Given the description of an element on the screen output the (x, y) to click on. 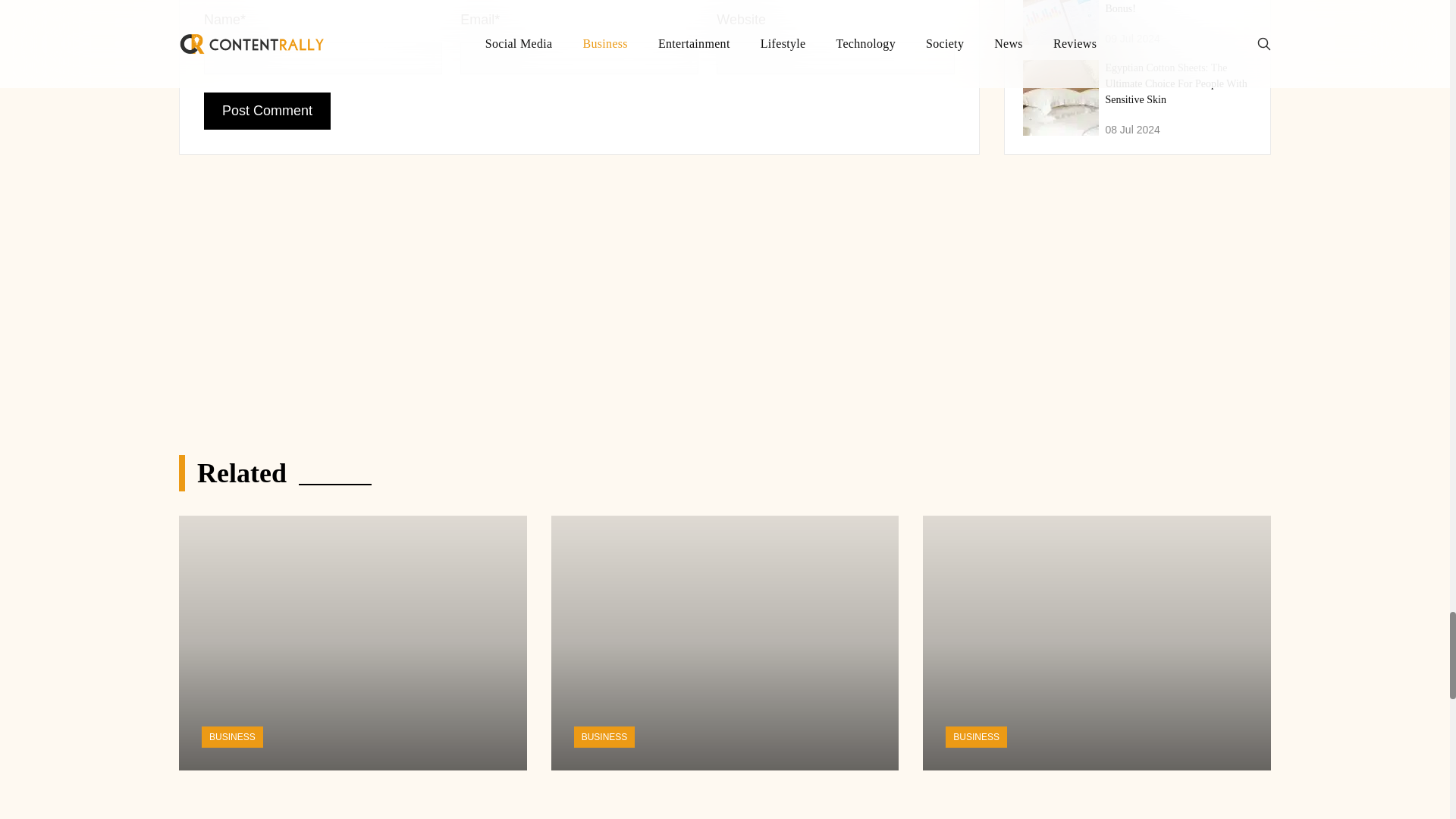
Post Comment (266, 110)
